Given the description of an element on the screen output the (x, y) to click on. 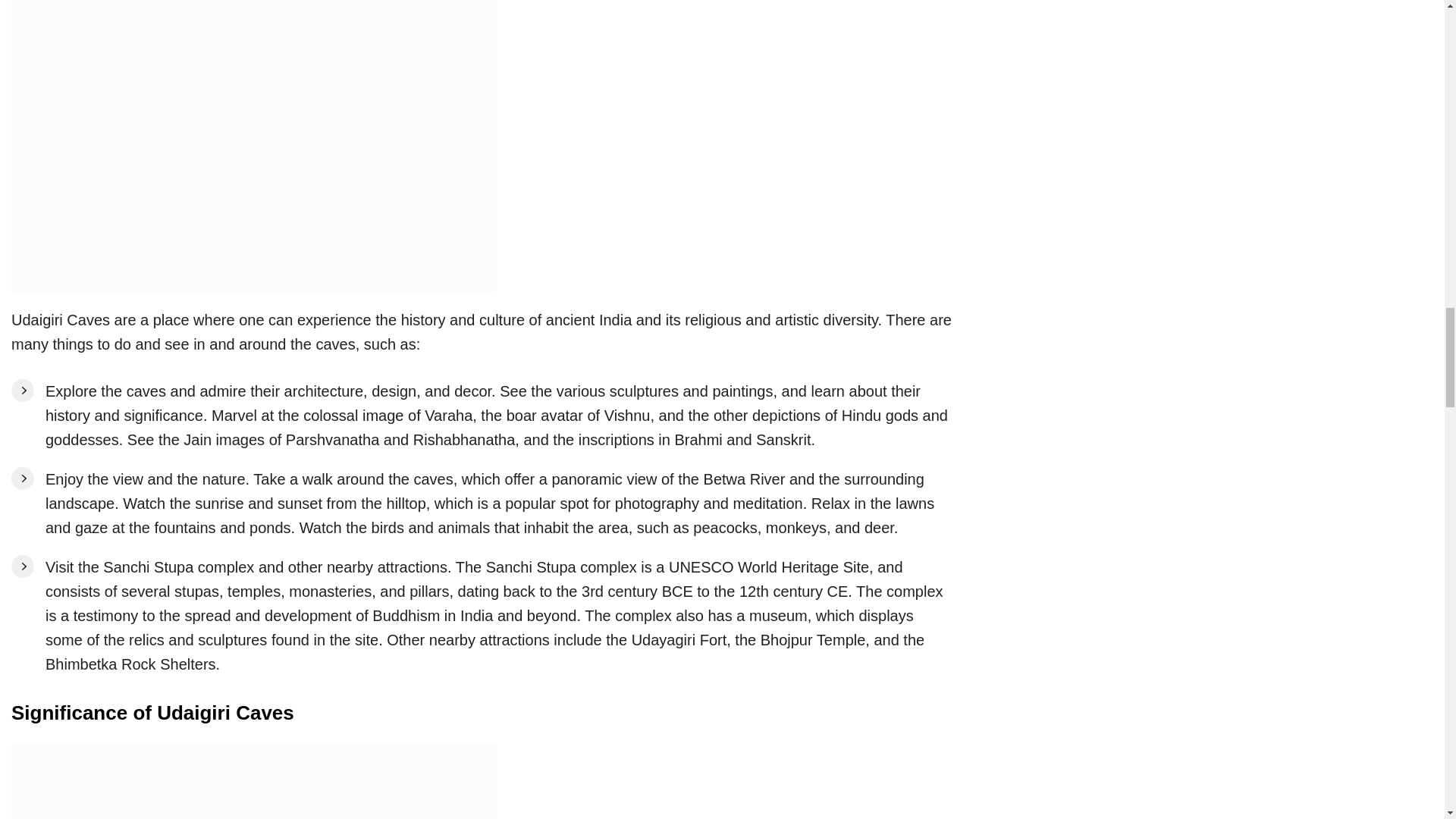
Udaigiri Caves : Best Place In Udaigiri 6 (253, 780)
